Given the description of an element on the screen output the (x, y) to click on. 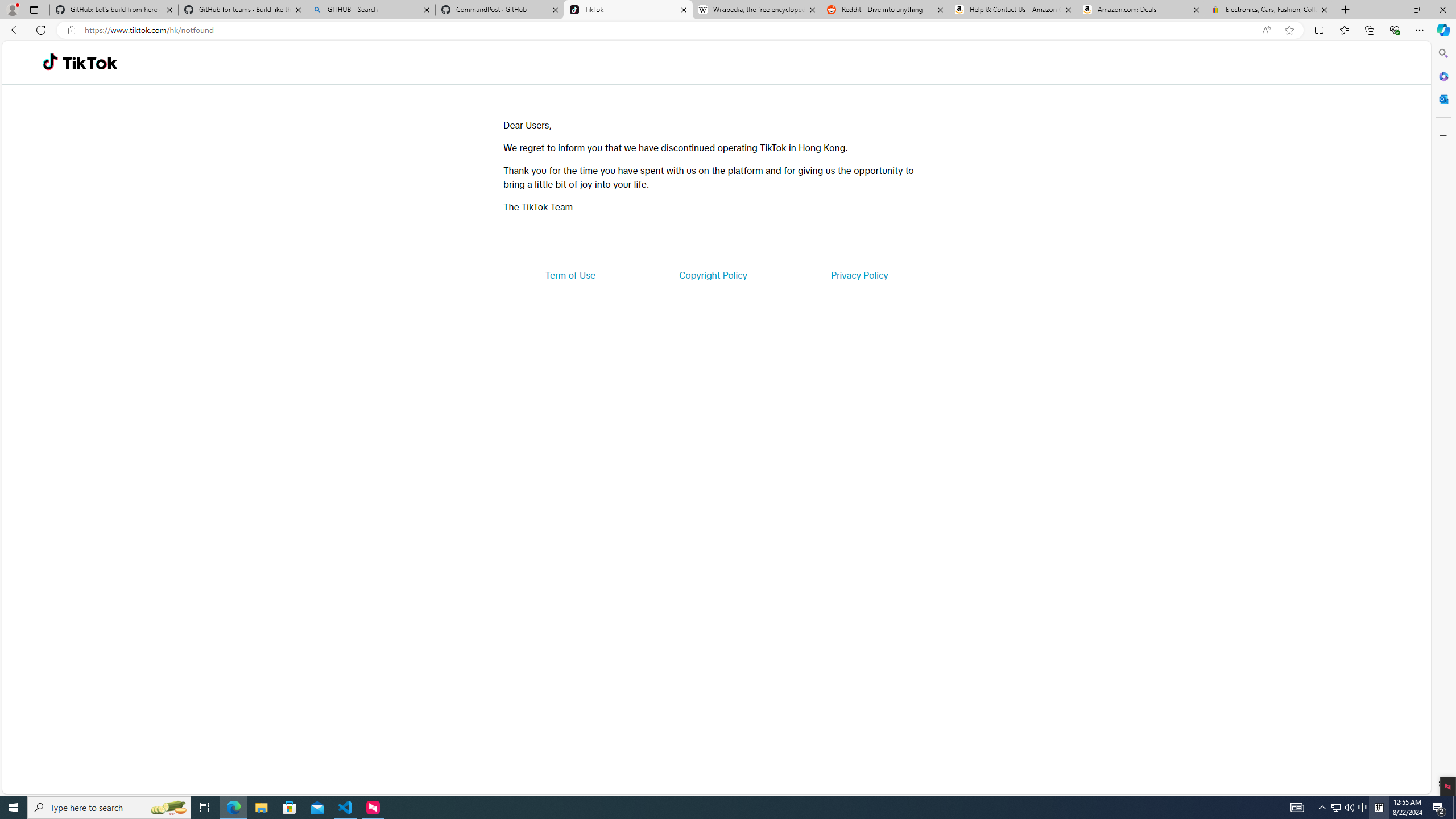
Help & Contact Us - Amazon Customer Service (1012, 9)
Wikipedia, the free encyclopedia (756, 9)
Amazon.com: Deals (1140, 9)
Copyright Policy (712, 274)
